Given the description of an element on the screen output the (x, y) to click on. 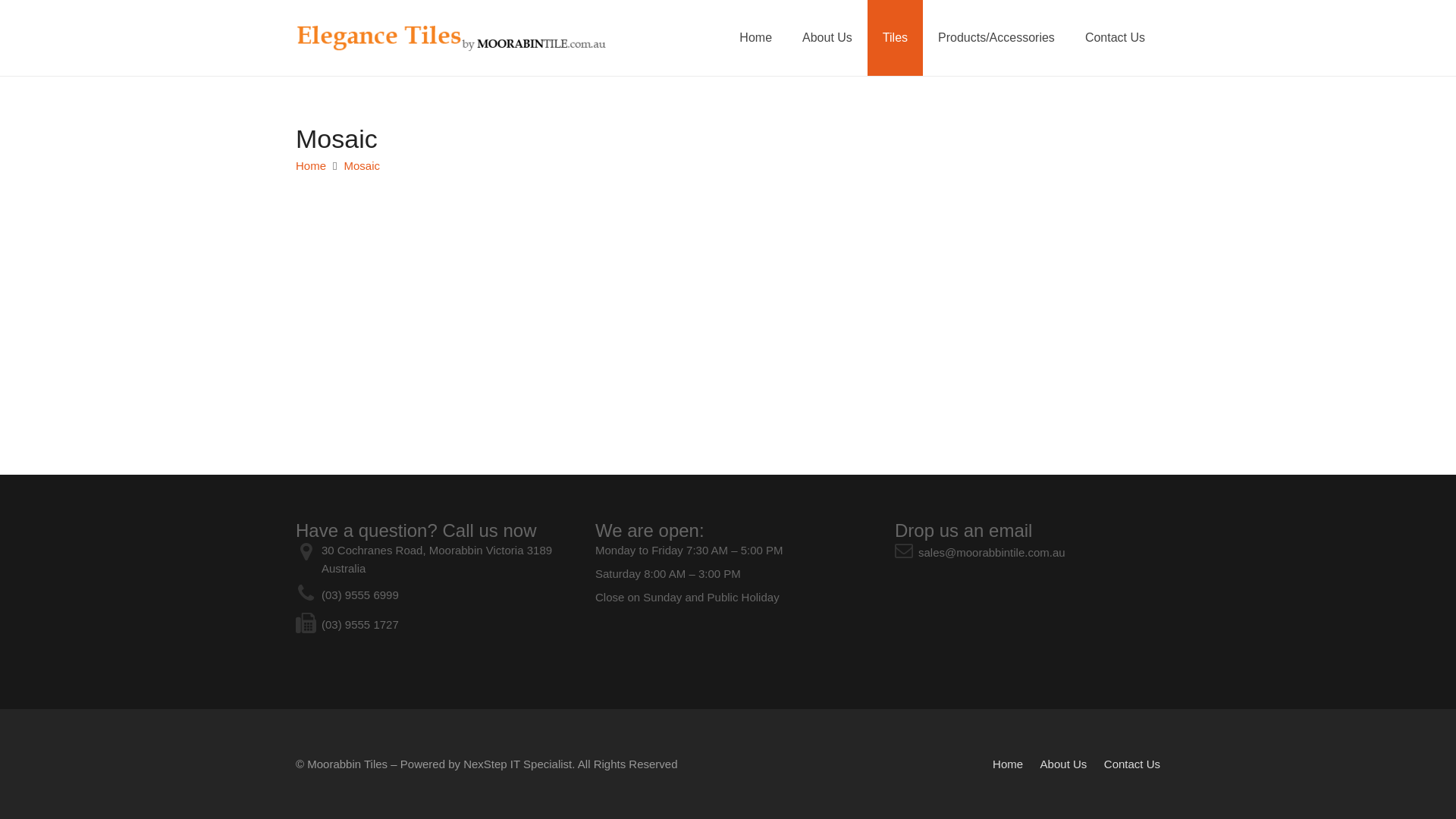
Home Element type: text (310, 165)
Mosaic Element type: text (362, 165)
Products/Accessories Element type: text (996, 37)
Home Element type: text (1007, 763)
About Us Element type: text (1063, 763)
Tiles Element type: text (894, 37)
Home Element type: text (755, 37)
About Us Element type: text (827, 37)
Contact Us Element type: text (1115, 37)
Contact Us Element type: text (1132, 763)
